Given the description of an element on the screen output the (x, y) to click on. 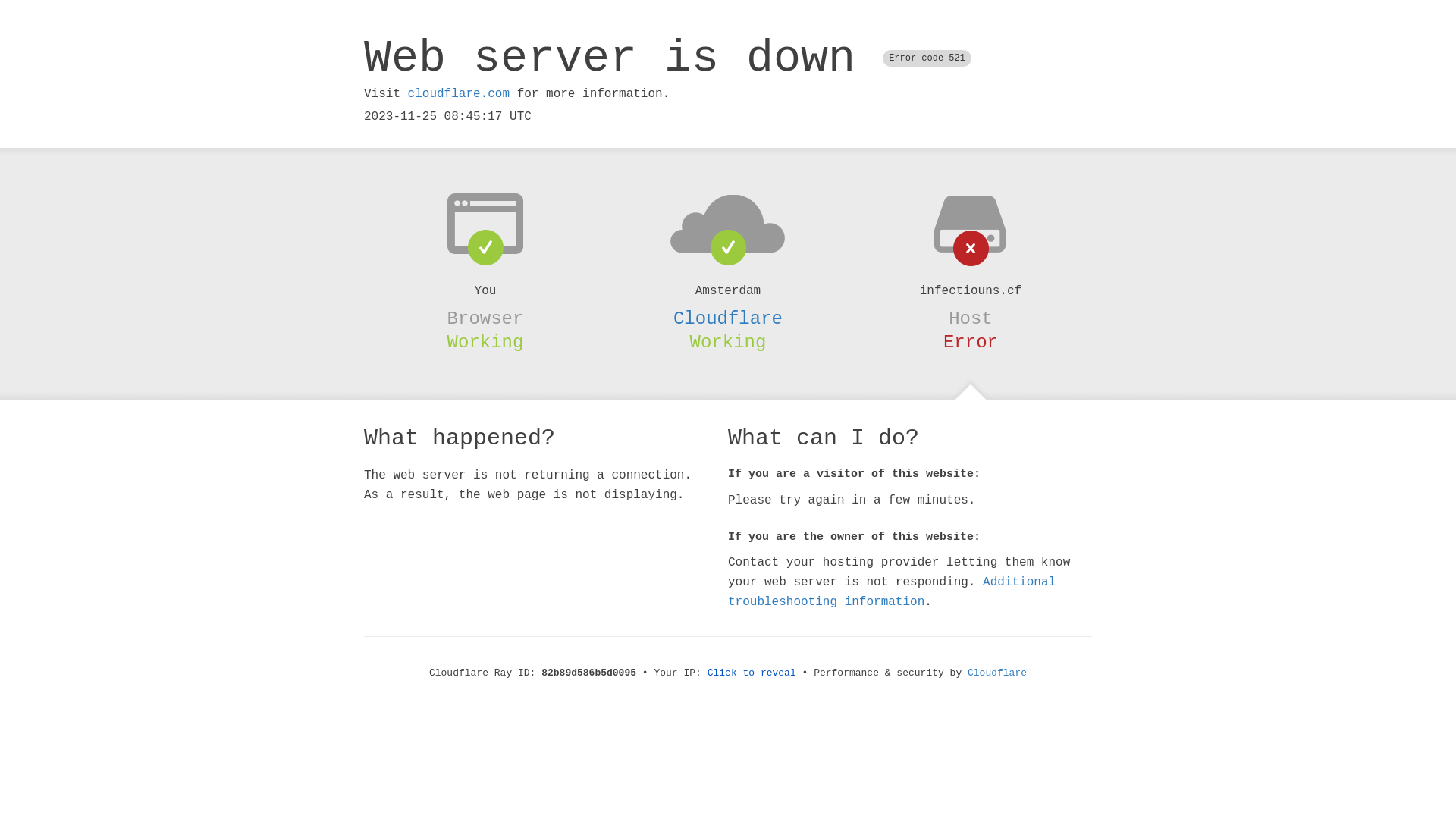
Additional troubleshooting information Element type: text (891, 591)
cloudflare.com Element type: text (458, 93)
Cloudflare Element type: text (727, 318)
Cloudflare Element type: text (996, 672)
Click to reveal Element type: text (751, 672)
